Given the description of an element on the screen output the (x, y) to click on. 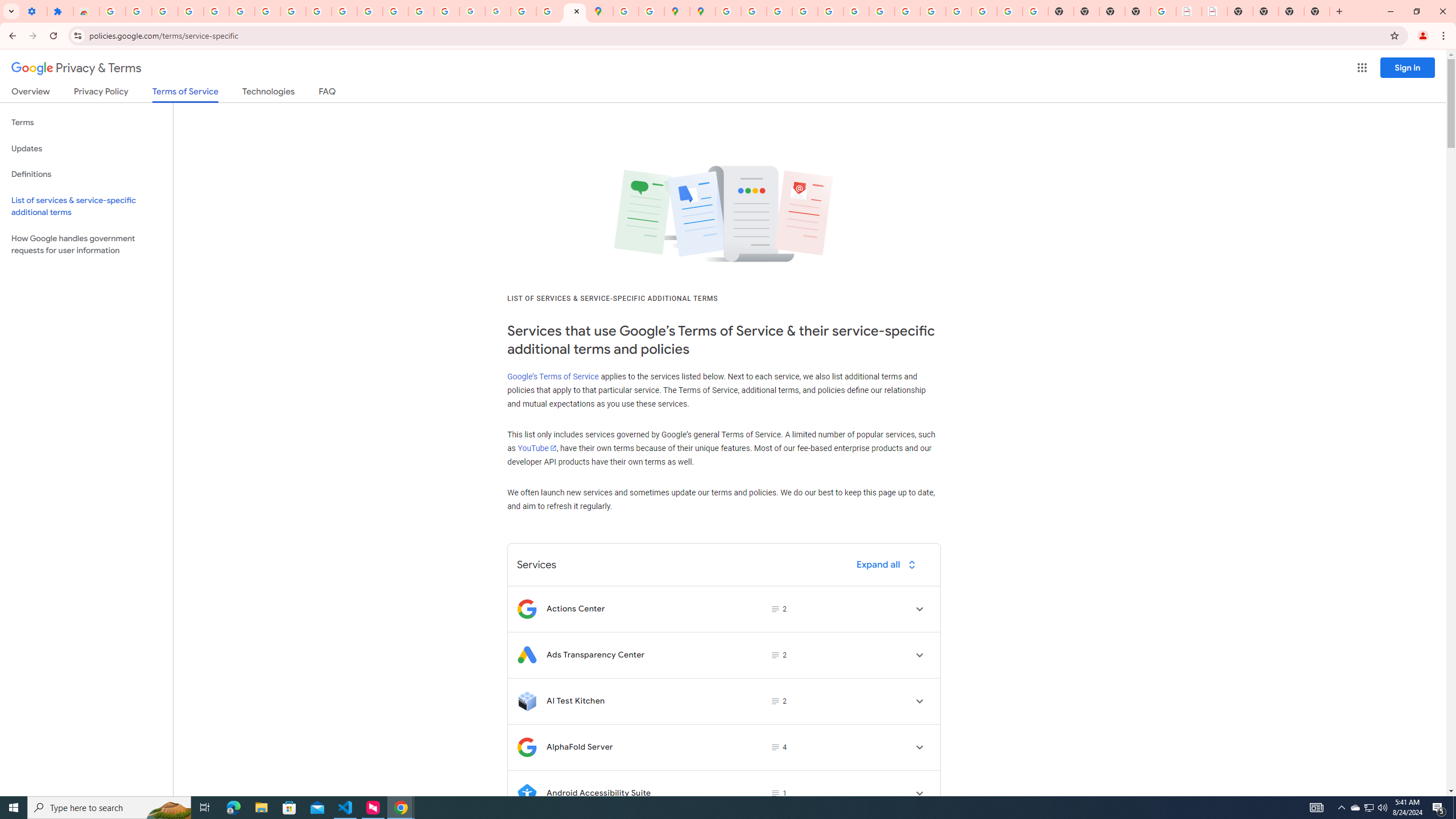
Safety in Our Products - Google Safety Center (651, 11)
Logo for Actions Center (526, 608)
